Given the description of an element on the screen output the (x, y) to click on. 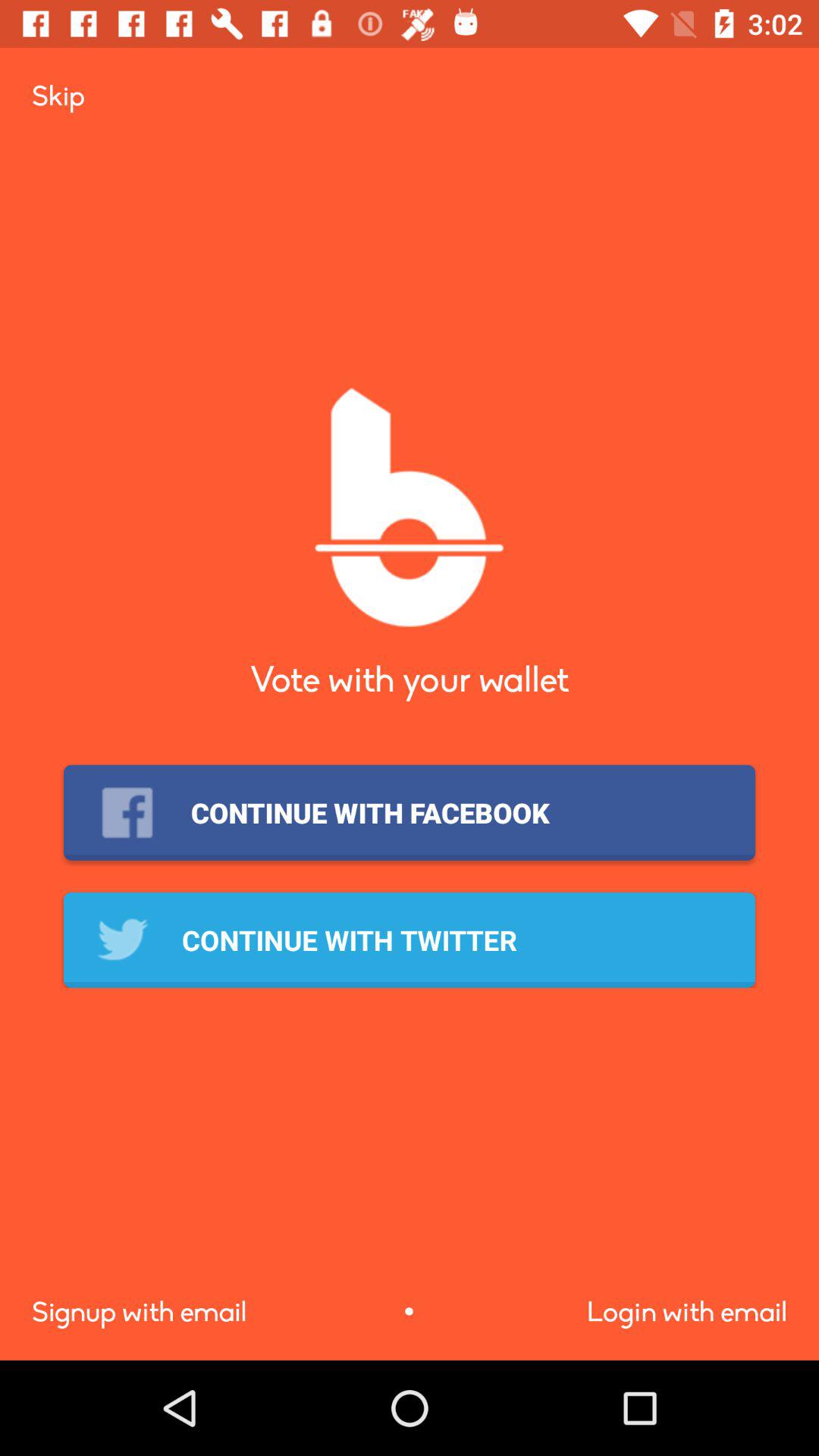
open the icon at the top left corner (58, 95)
